Given the description of an element on the screen output the (x, y) to click on. 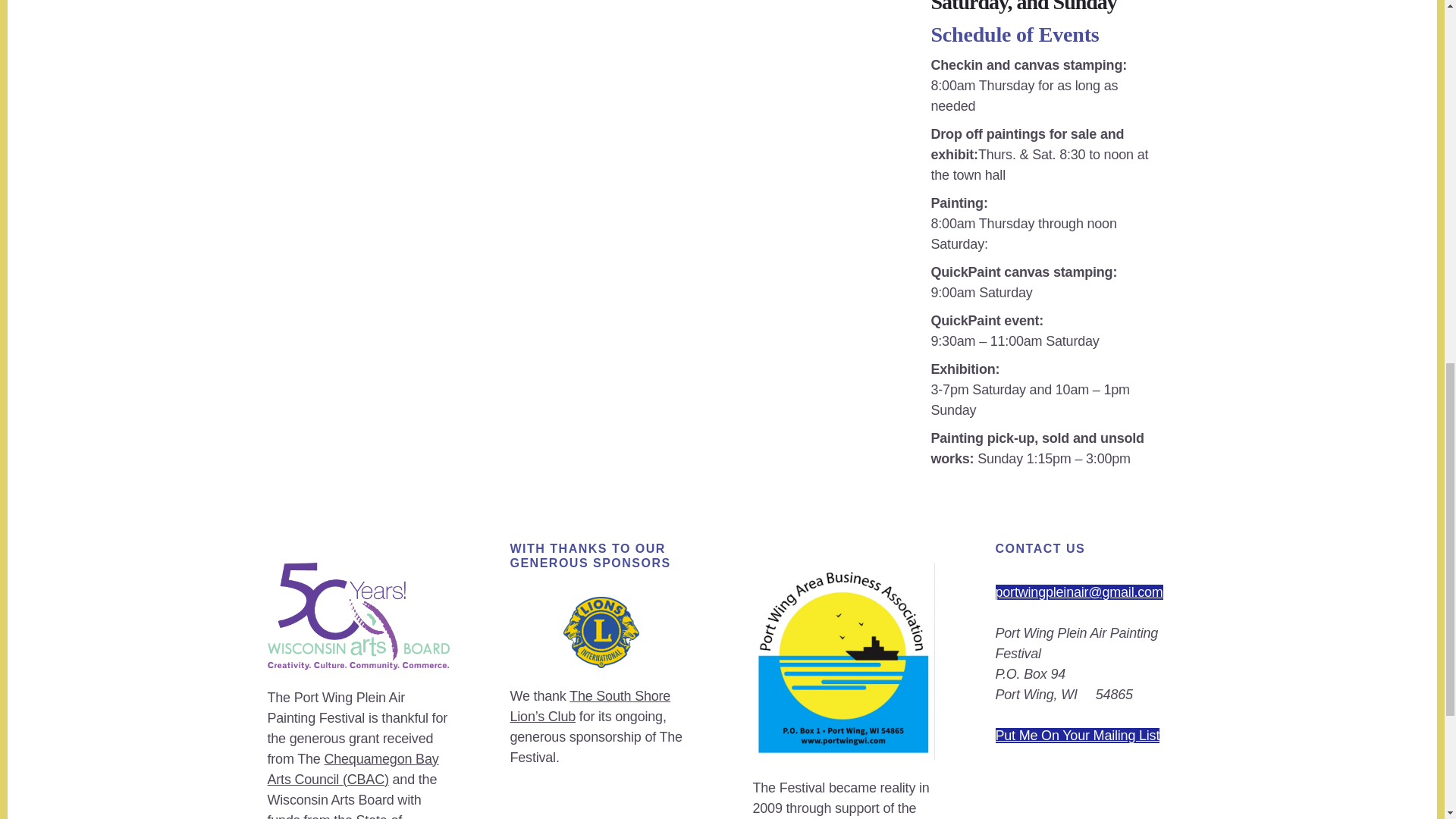
Put Me On Your Mailing List (1076, 735)
